Given the description of an element on the screen output the (x, y) to click on. 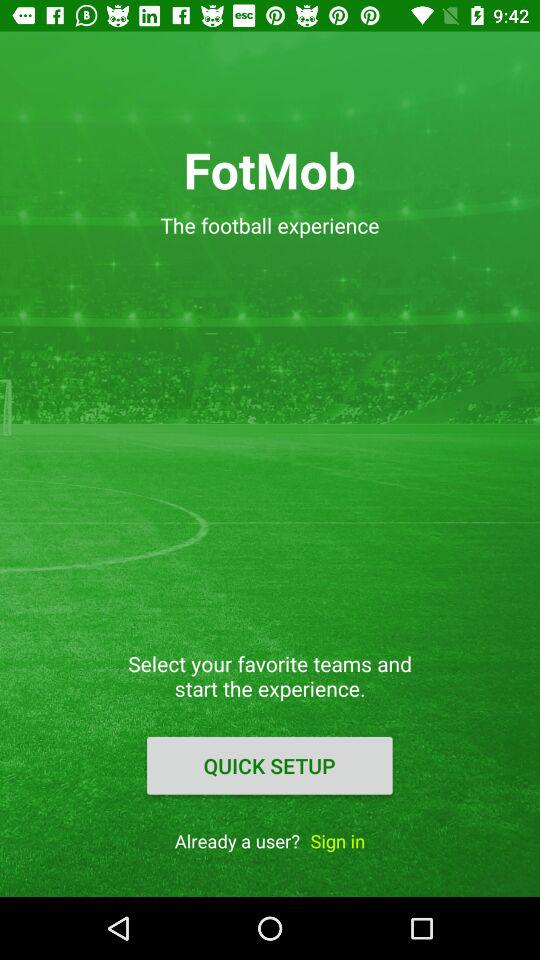
click the icon below quick setup item (337, 840)
